Given the description of an element on the screen output the (x, y) to click on. 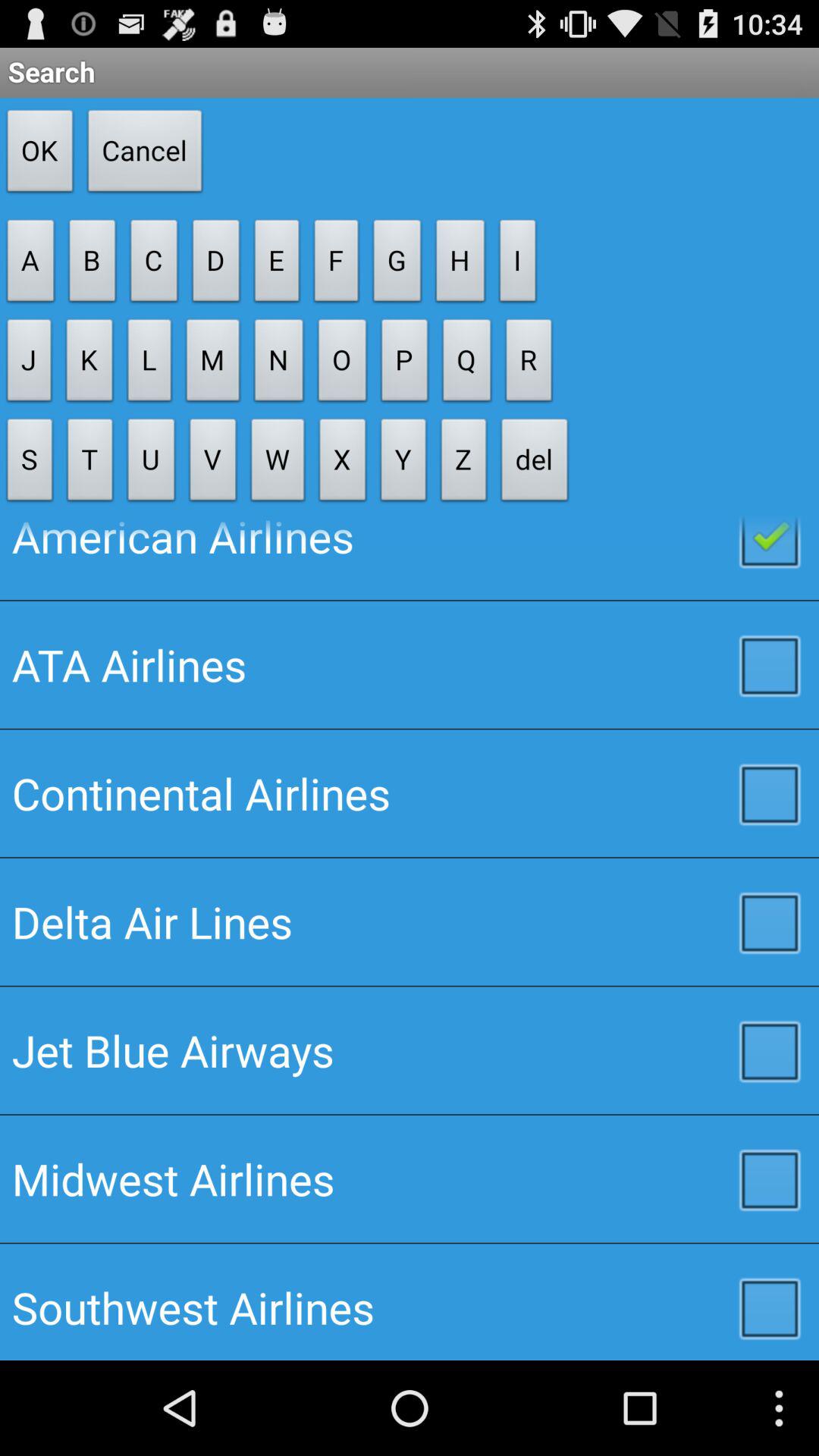
click checkbox above ata airlines icon (409, 557)
